Given the description of an element on the screen output the (x, y) to click on. 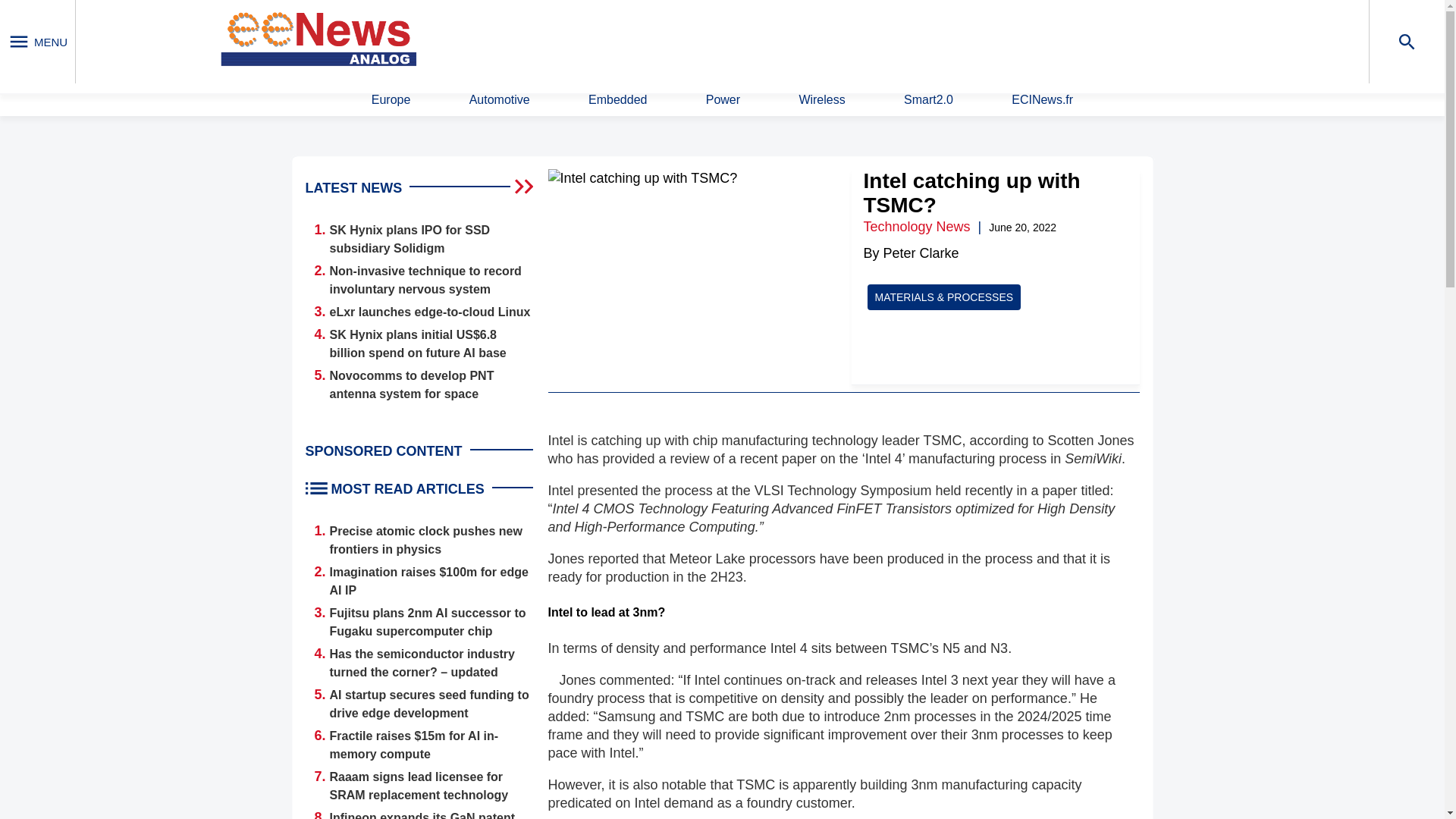
Embedded (617, 99)
Smart2.0 (928, 99)
Automotive (498, 99)
Wireless (820, 99)
Search (949, 40)
Power (722, 99)
ECINews.fr (1042, 99)
Europe (390, 99)
